Given the description of an element on the screen output the (x, y) to click on. 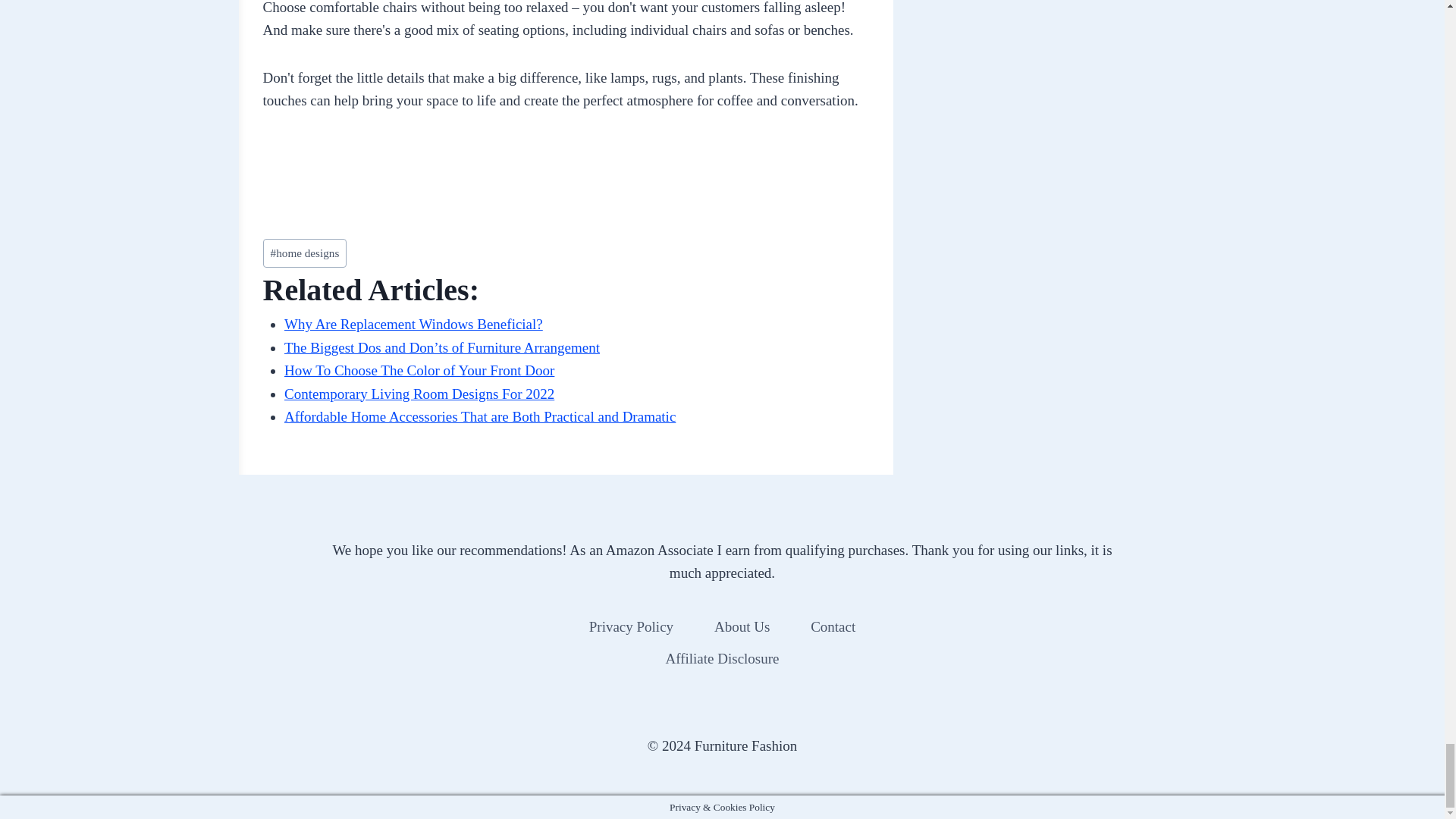
home designs (304, 253)
